Given the description of an element on the screen output the (x, y) to click on. 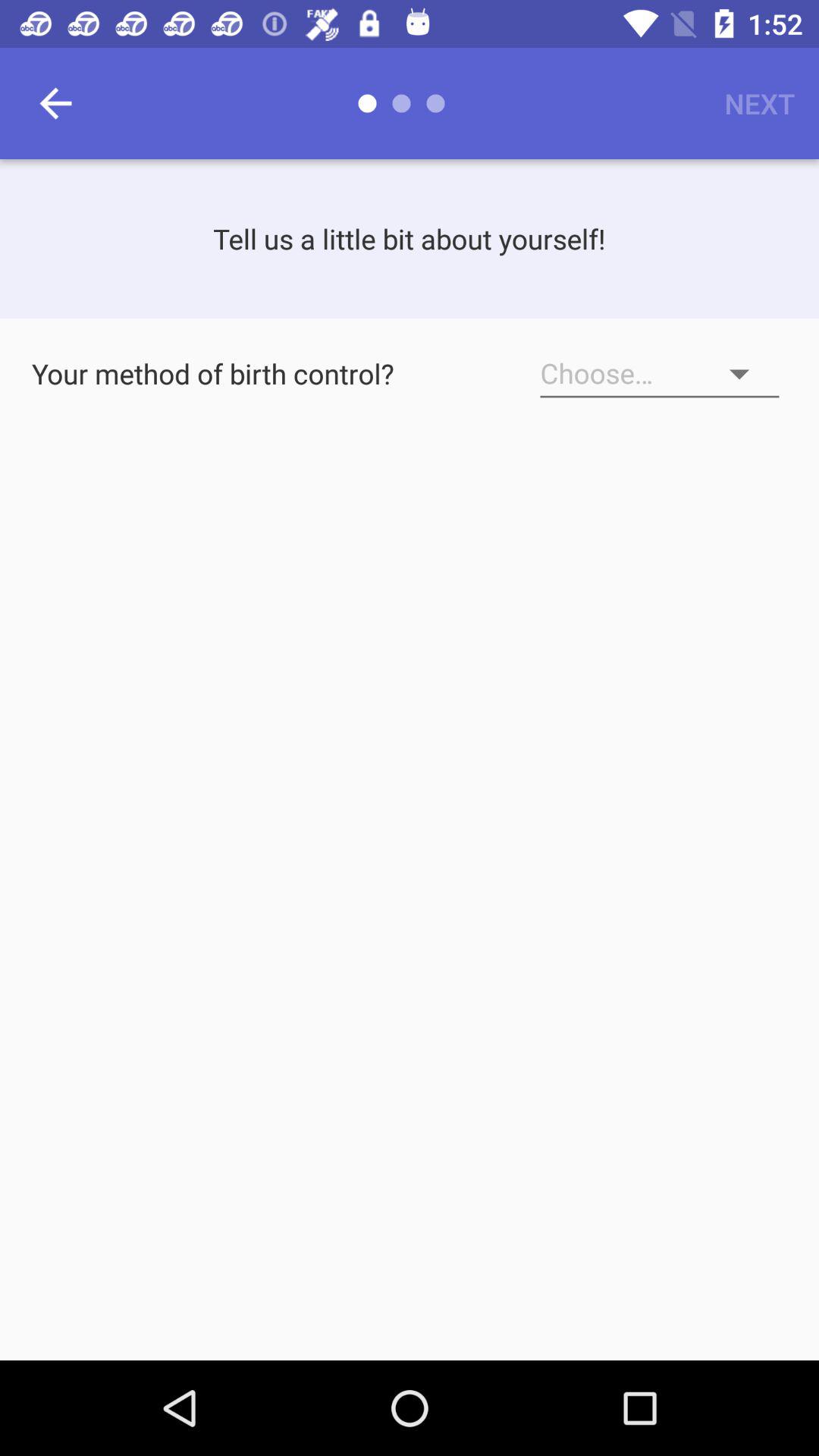
method of birth control (659, 373)
